Given the description of an element on the screen output the (x, y) to click on. 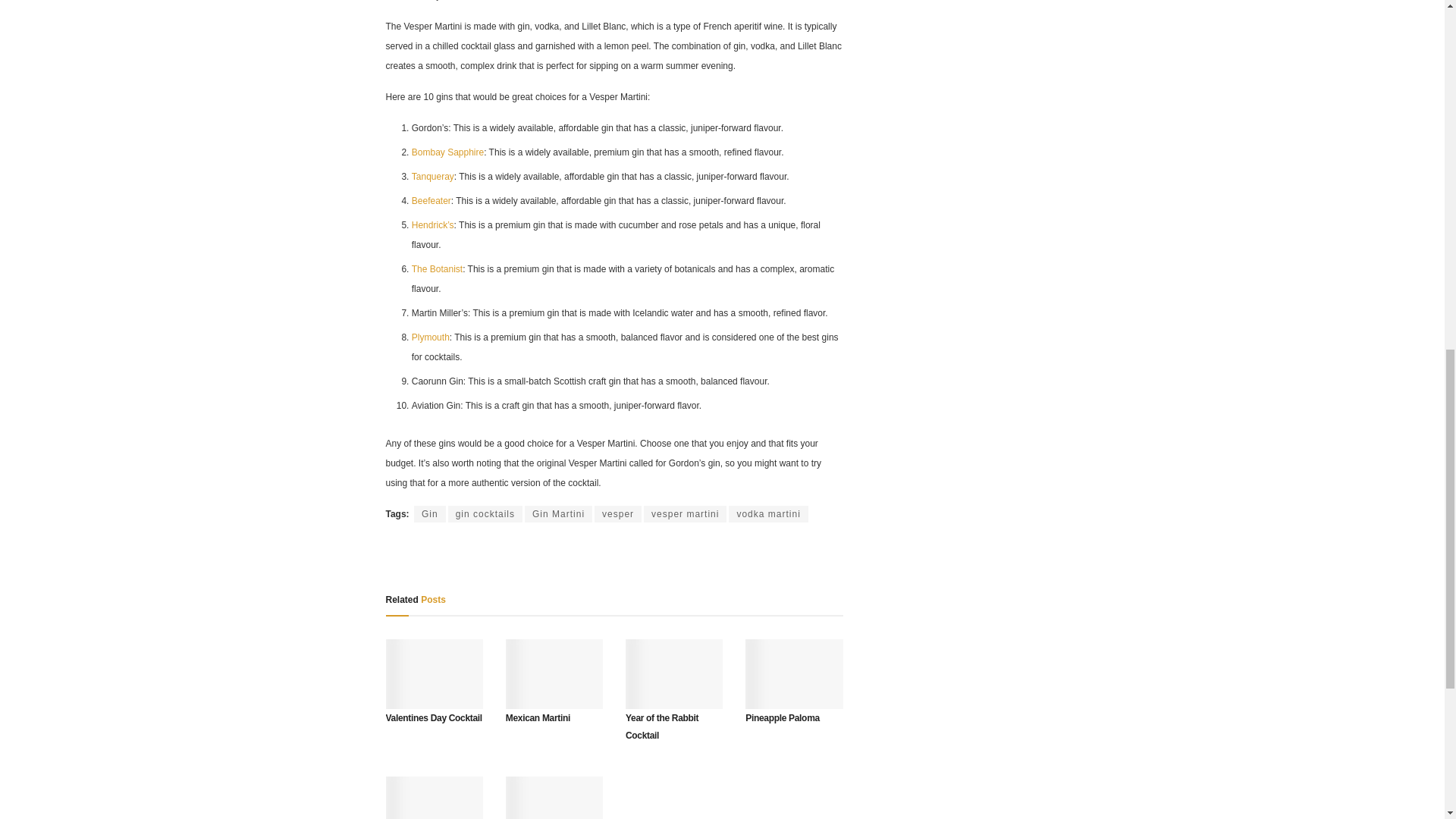
Beefeater (431, 200)
Bombay Sapphire (447, 152)
Tanqueray (433, 176)
Hendricks (433, 225)
The Botanist Gin Review (437, 268)
